Given the description of an element on the screen output the (x, y) to click on. 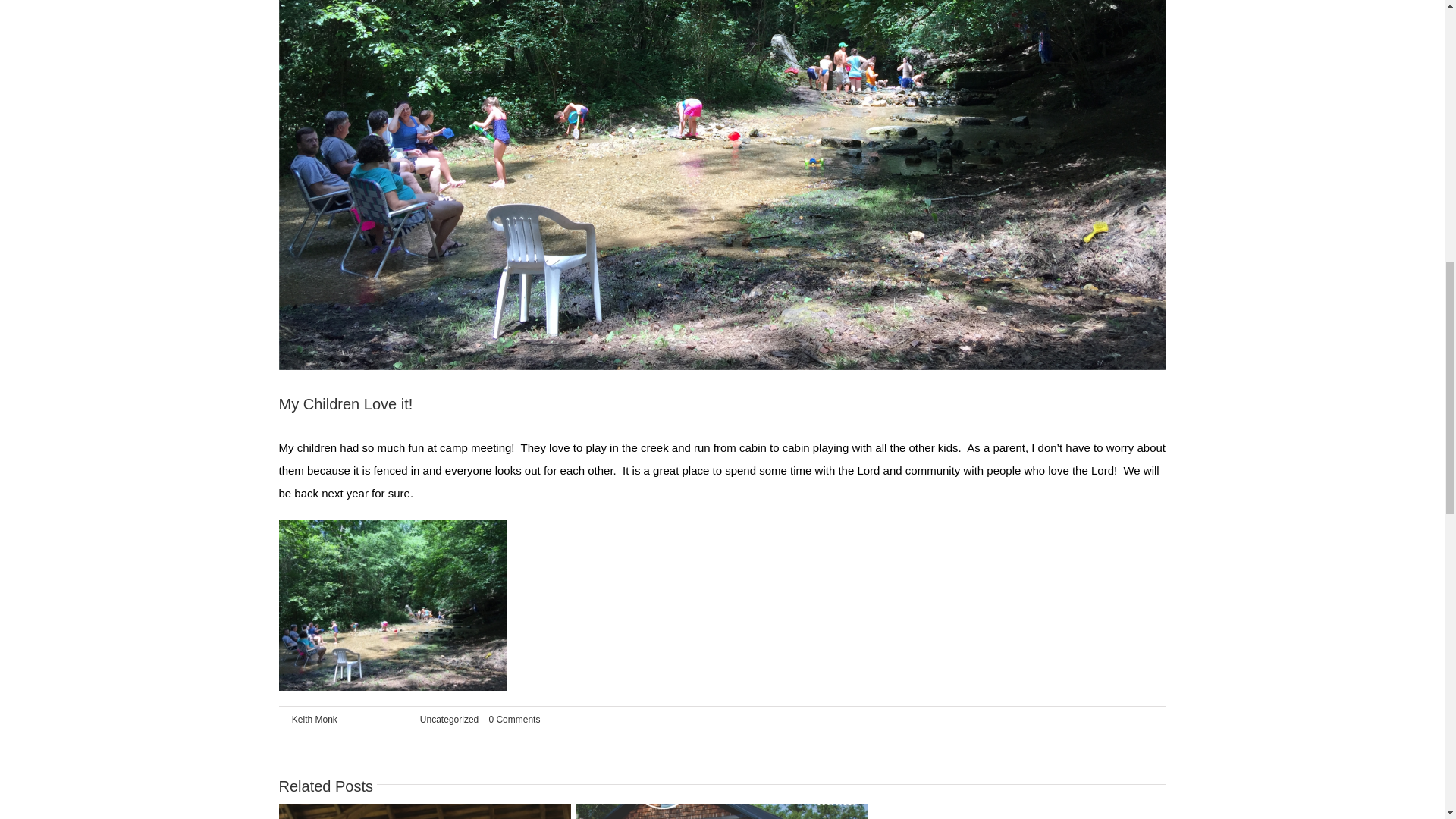
Posts by Keith Monk (314, 719)
